Given the description of an element on the screen output the (x, y) to click on. 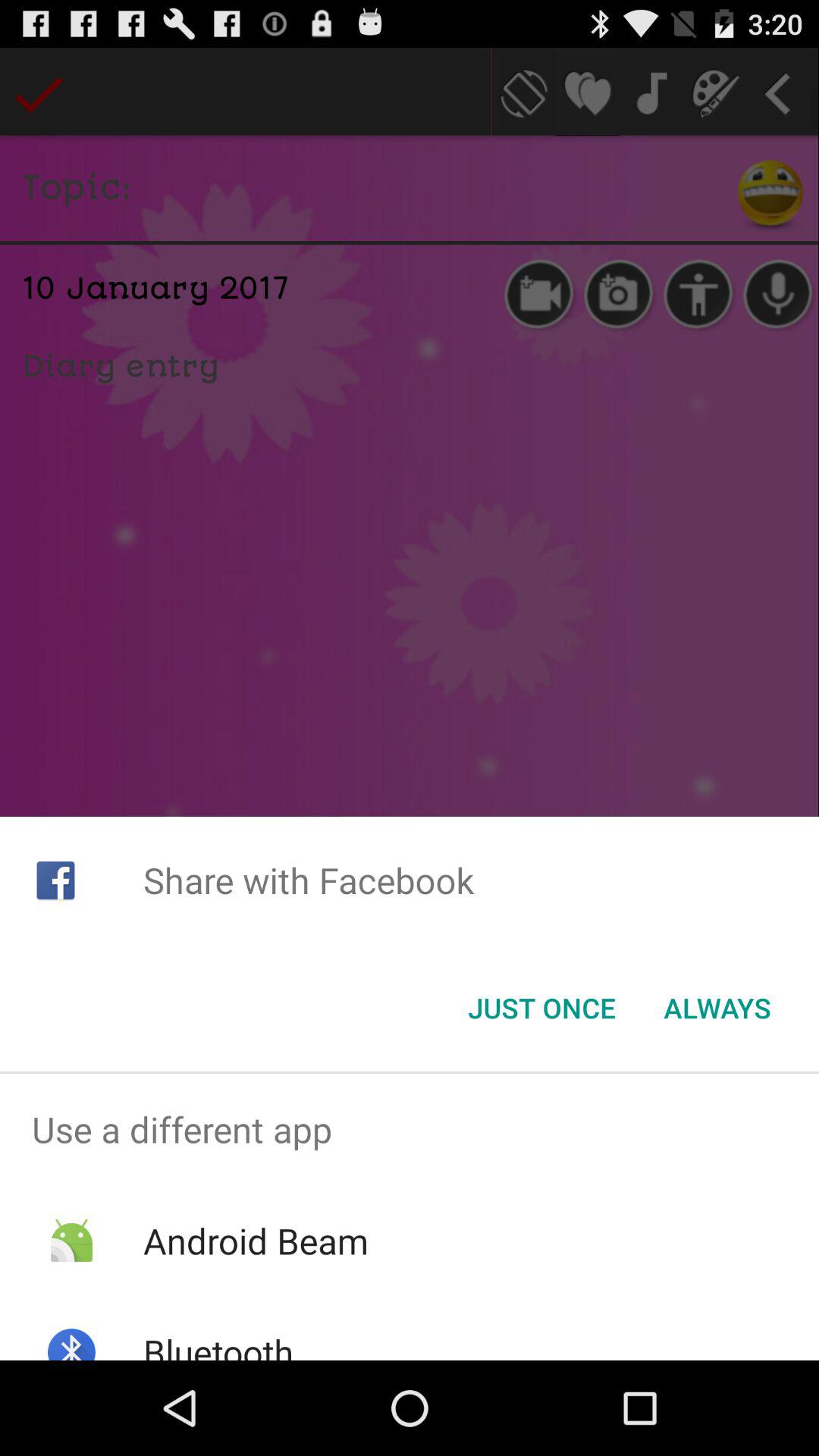
turn on always item (717, 1007)
